Given the description of an element on the screen output the (x, y) to click on. 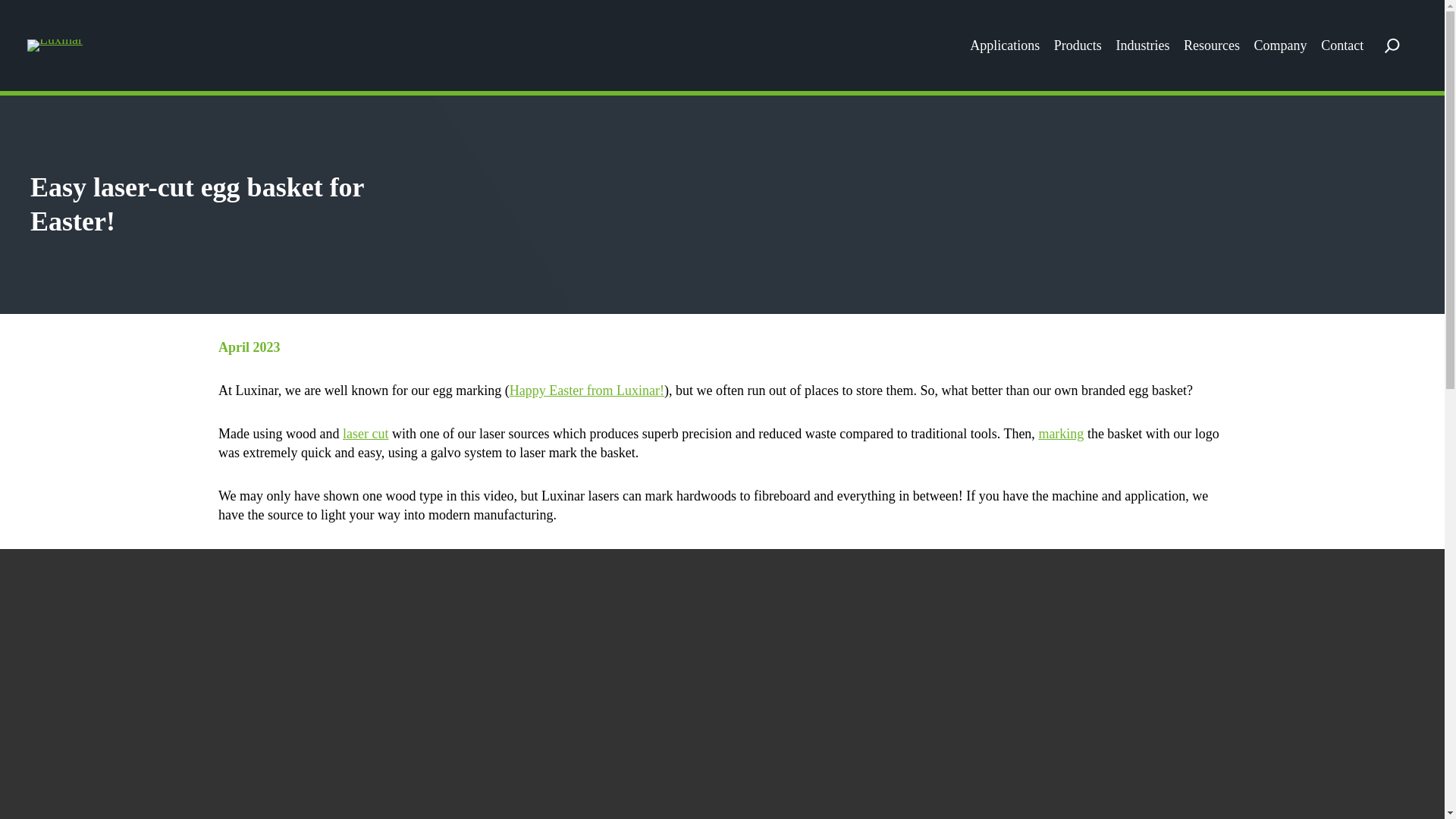
Industries (1142, 45)
Applications (1004, 45)
Resources (1211, 45)
Happy Easter from Luxinar! (586, 390)
marking (1060, 433)
Company (1280, 45)
Contact (1341, 45)
Products (1078, 45)
laser cut (365, 433)
